Given the description of an element on the screen output the (x, y) to click on. 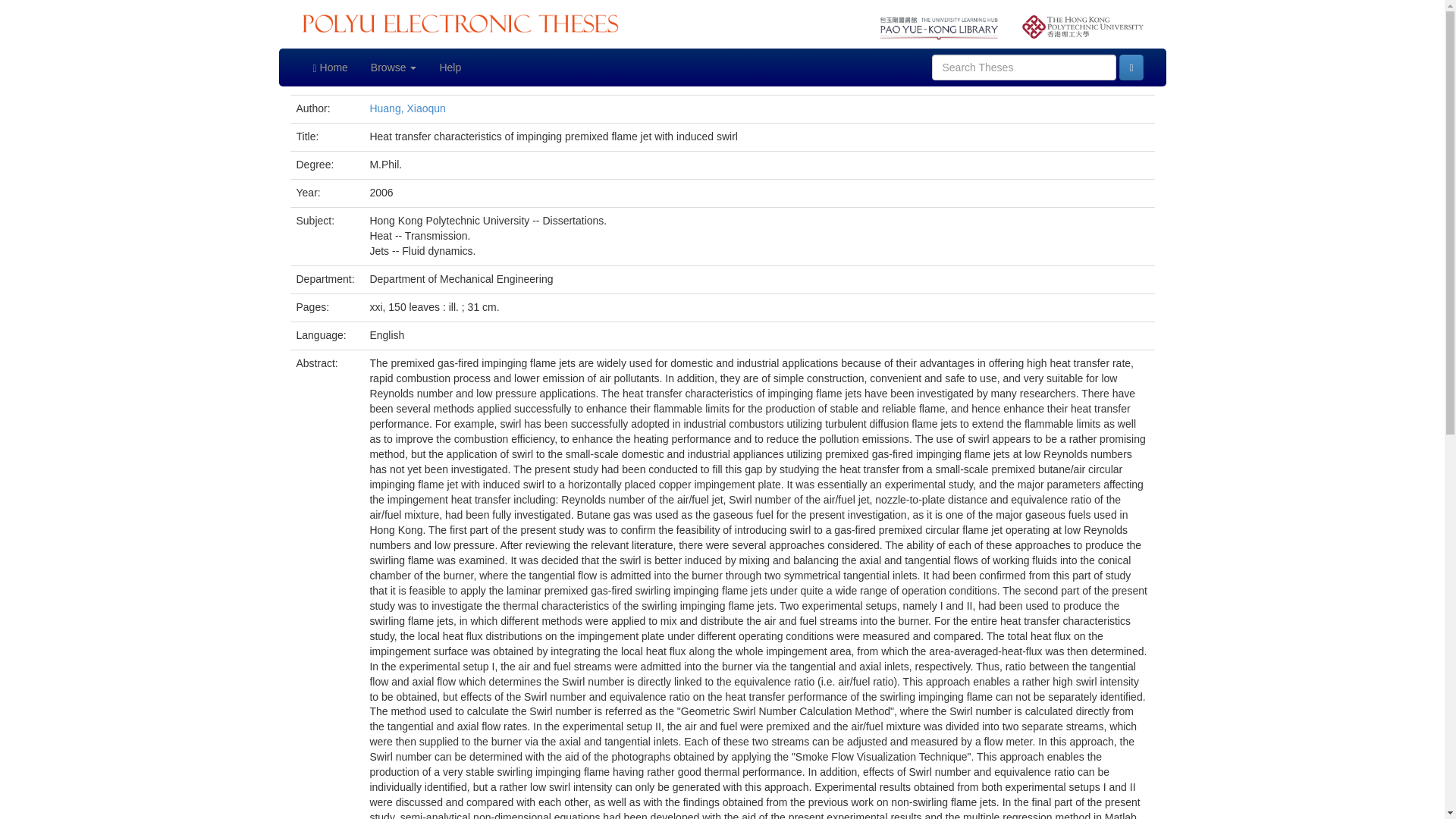
Home (330, 67)
Huang, Xiaoqun (407, 108)
Help (449, 67)
Browse (393, 67)
